Given the description of an element on the screen output the (x, y) to click on. 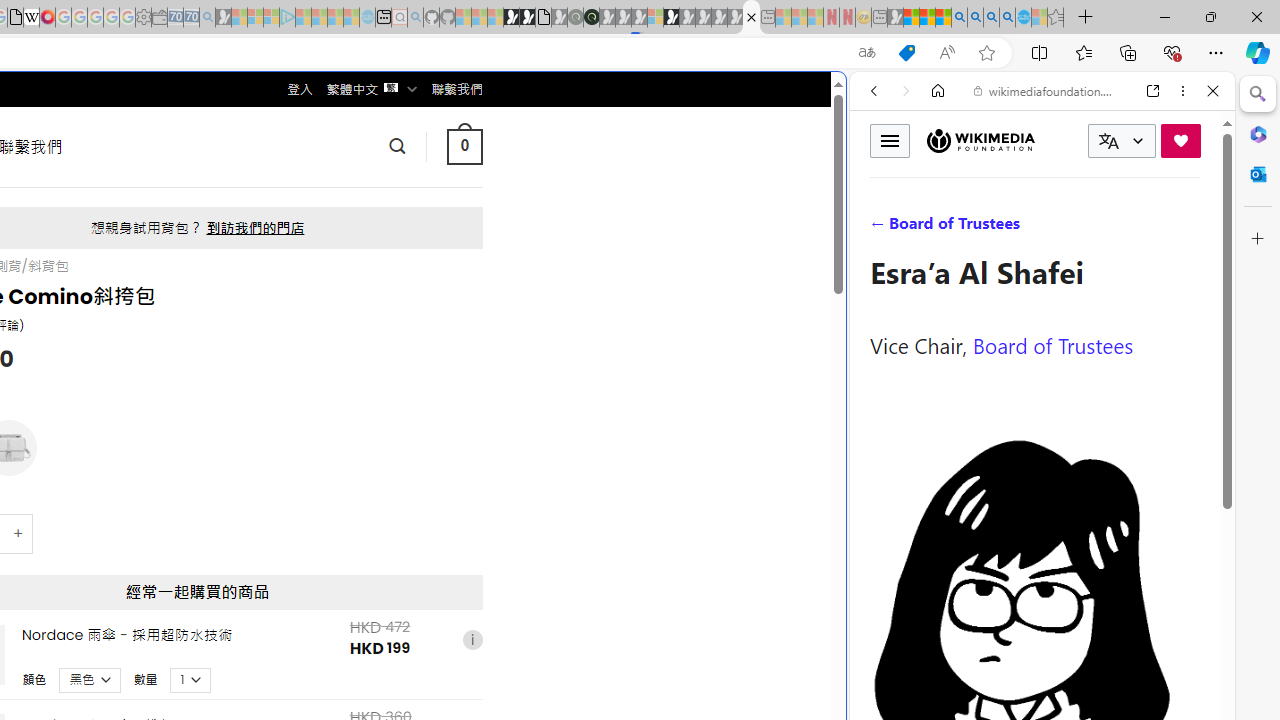
Toggle menu (890, 140)
Cheap Car Rentals - Save70.com - Sleeping (191, 17)
MSN - Sleeping (895, 17)
Search Filter, VIDEOS (1006, 228)
+ (19, 532)
Web scope (882, 180)
Play Free Online Games | Games from Microsoft Start (511, 17)
wikimediafoundation.org (1045, 90)
